Given the description of an element on the screen output the (x, y) to click on. 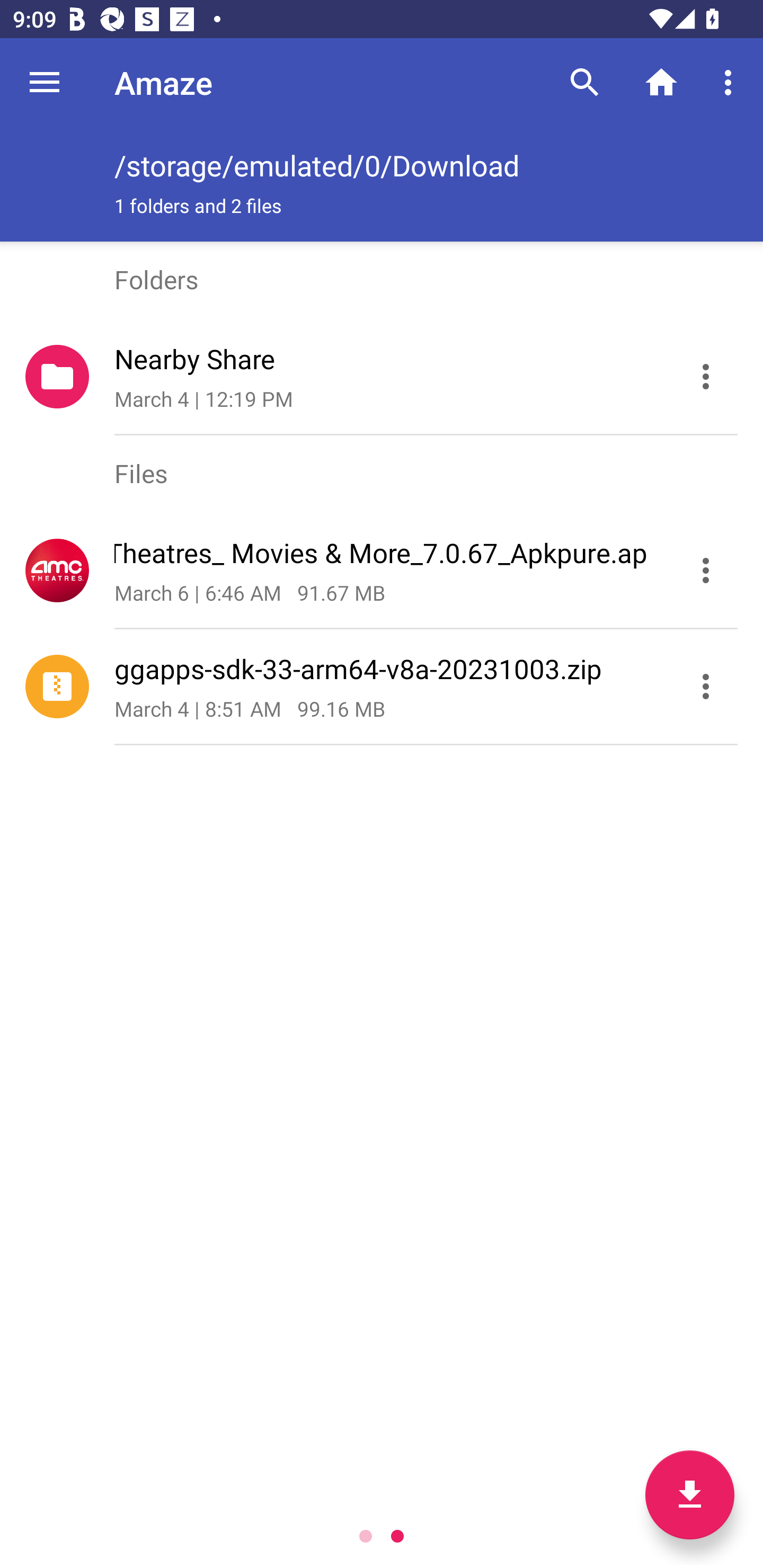
Navigate up (44, 82)
Search (585, 81)
Home (661, 81)
More options (731, 81)
Nearby Share March 4 | 12:19 PM (381, 376)
